Given the description of an element on the screen output the (x, y) to click on. 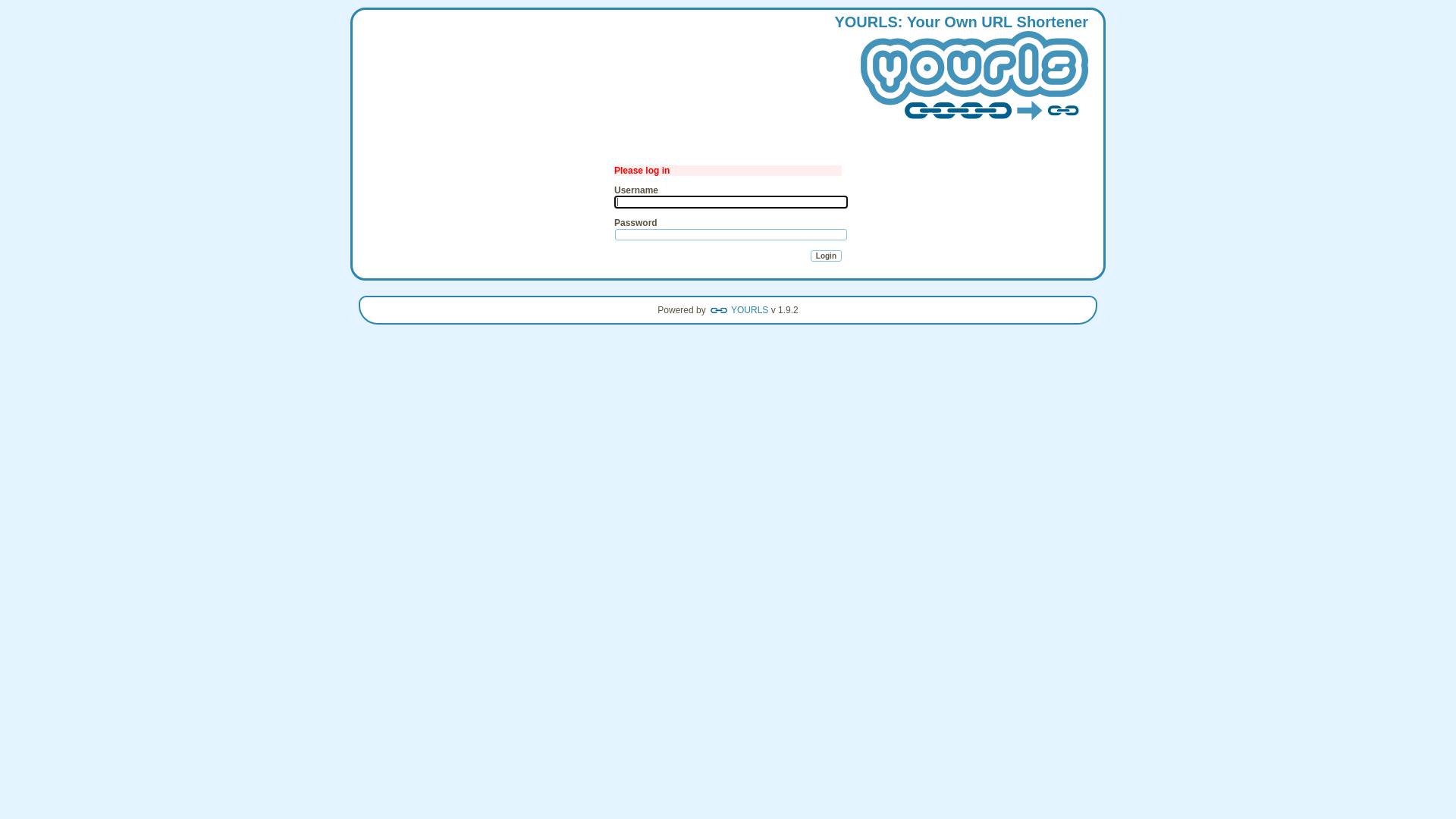
Login Element type: text (825, 255)
YOURLS: Your Own URL Shortener Element type: text (961, 70)
YOURLS Element type: text (738, 309)
YOURLS Element type: hover (974, 77)
